Given the description of an element on the screen output the (x, y) to click on. 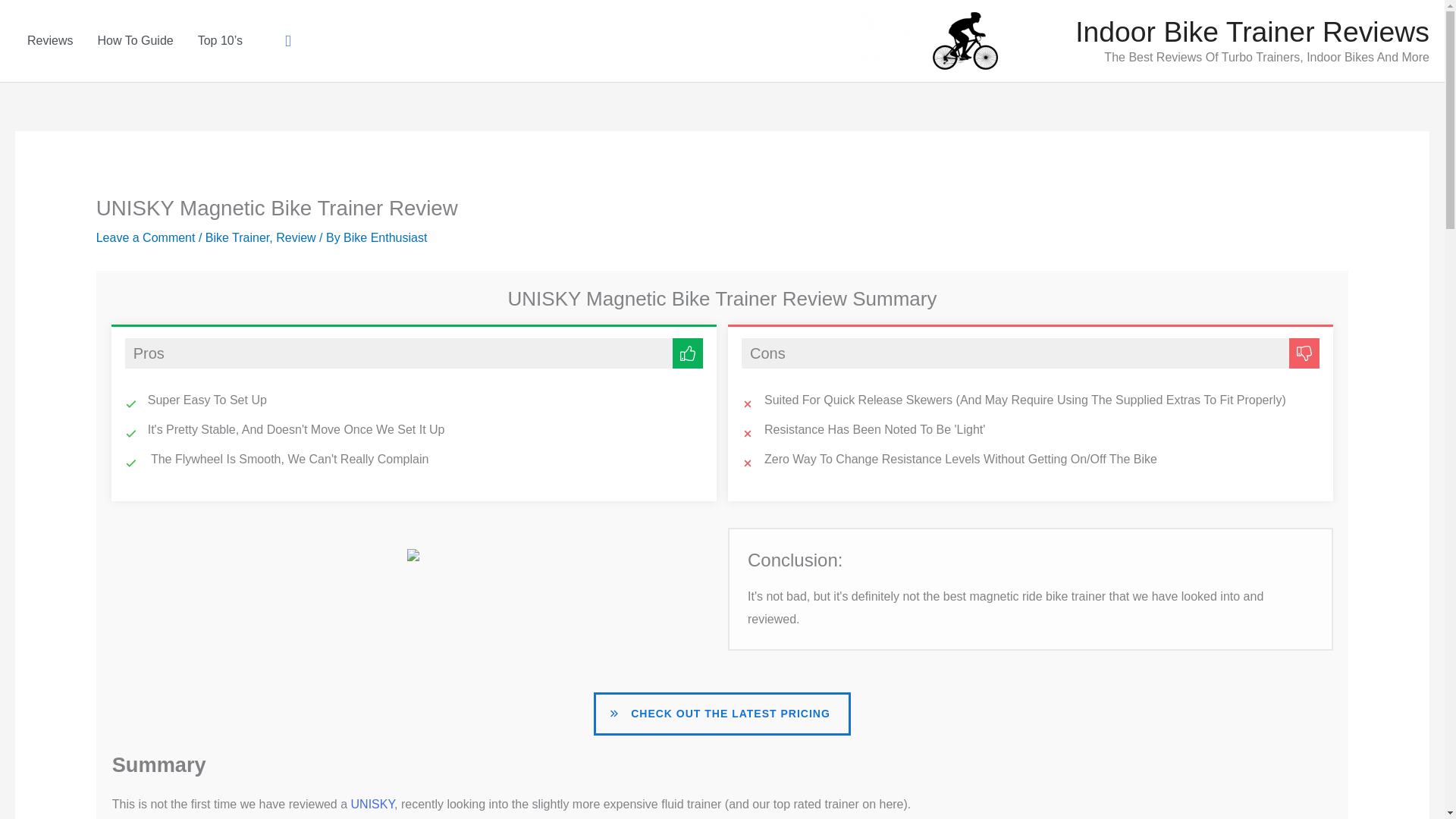
Bike Trainer (237, 237)
CHECK OUT THE LATEST PRICING (722, 713)
Reviews (49, 40)
Bike Enthusiast (384, 237)
How To Guide (134, 40)
UNISKY (372, 803)
View all posts by Bike Enthusiast (384, 237)
Review (295, 237)
Indoor Bike Trainer Reviews (1252, 31)
Leave a Comment (145, 237)
